Given the description of an element on the screen output the (x, y) to click on. 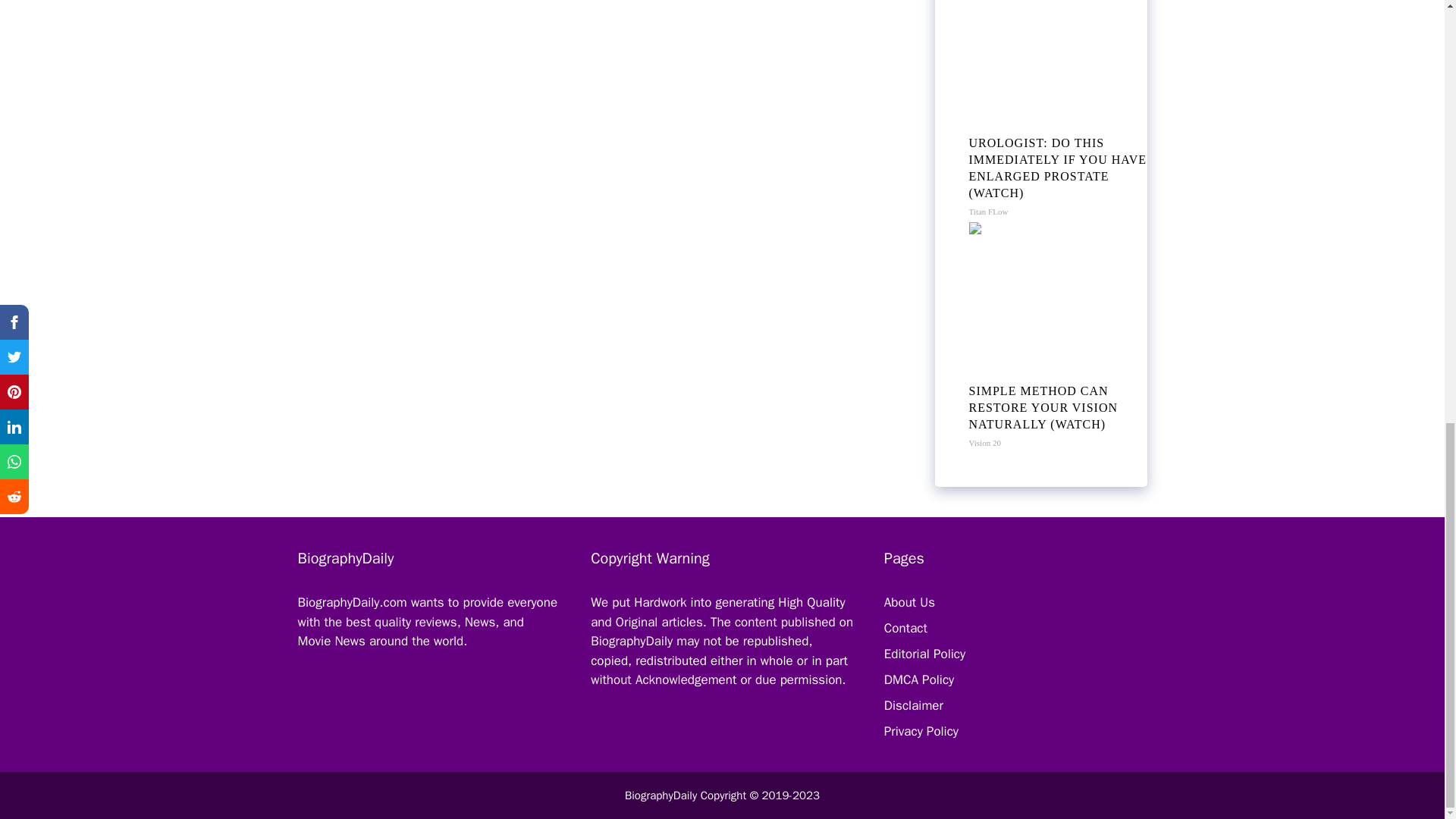
Privacy Policy (920, 731)
Editorial Policy (924, 653)
DMCA Policy (918, 679)
Contact (905, 627)
About Us (908, 602)
Disclaimer (913, 705)
